Given the description of an element on the screen output the (x, y) to click on. 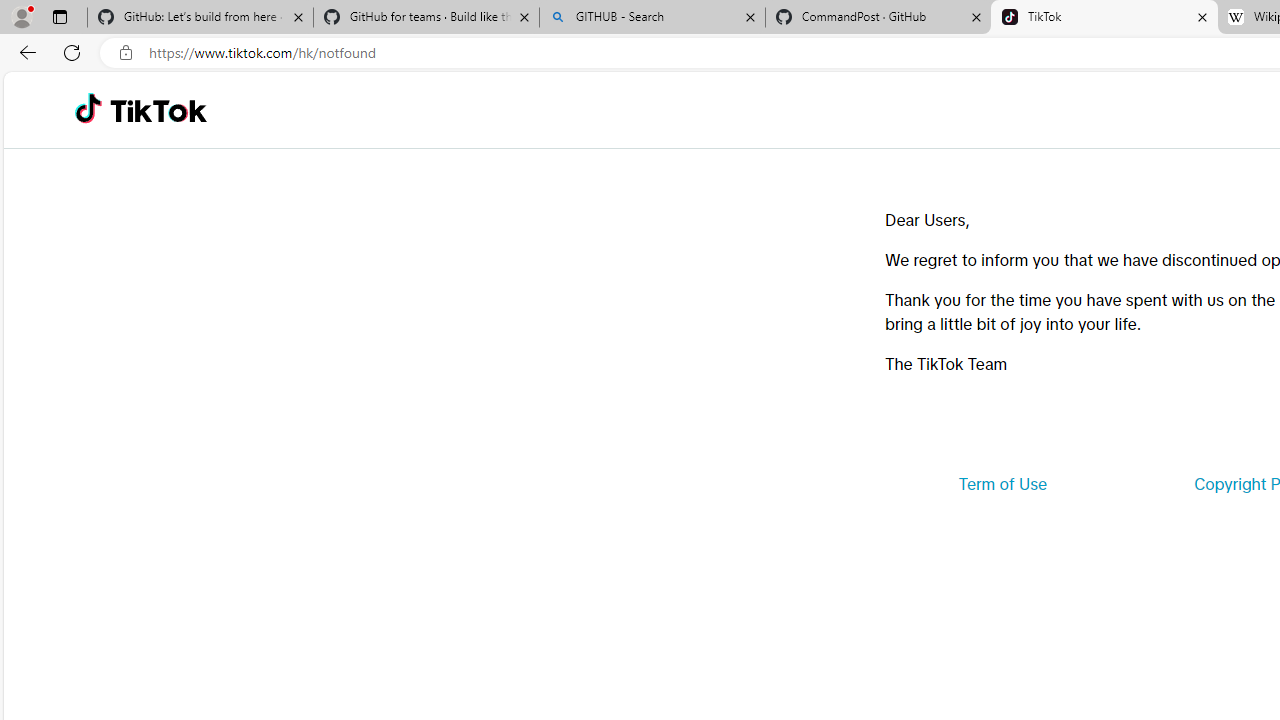
GITHUB - Search (652, 17)
Term of Use (1002, 484)
